Given the description of an element on the screen output the (x, y) to click on. 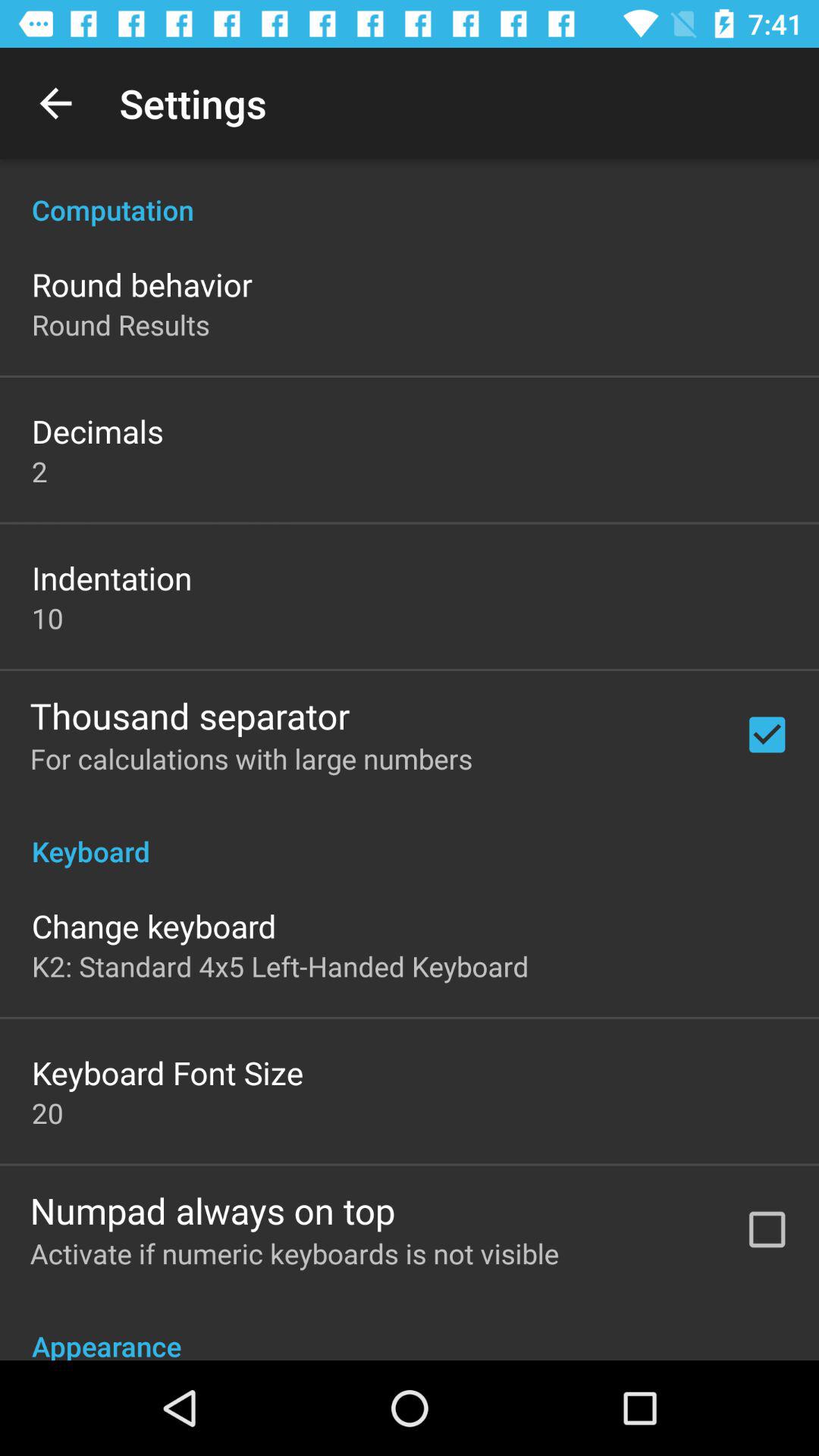
tap the icon above the appearance app (294, 1253)
